Given the description of an element on the screen output the (x, y) to click on. 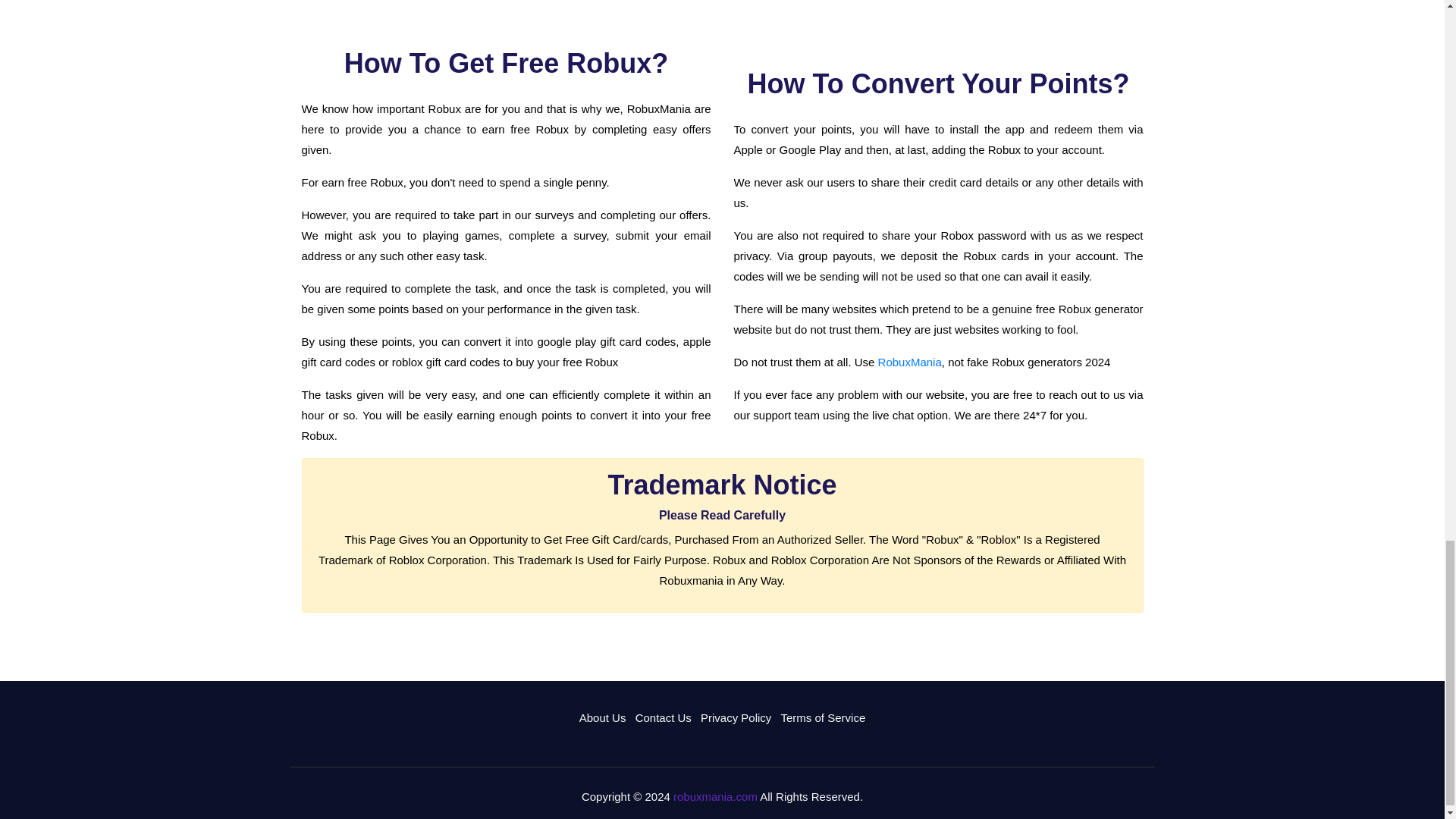
Privacy Policy (735, 717)
About Us (602, 717)
Contact Us (662, 717)
RobuxMania (909, 361)
Terms of Service (823, 717)
robuxmania.com (714, 796)
